Given the description of an element on the screen output the (x, y) to click on. 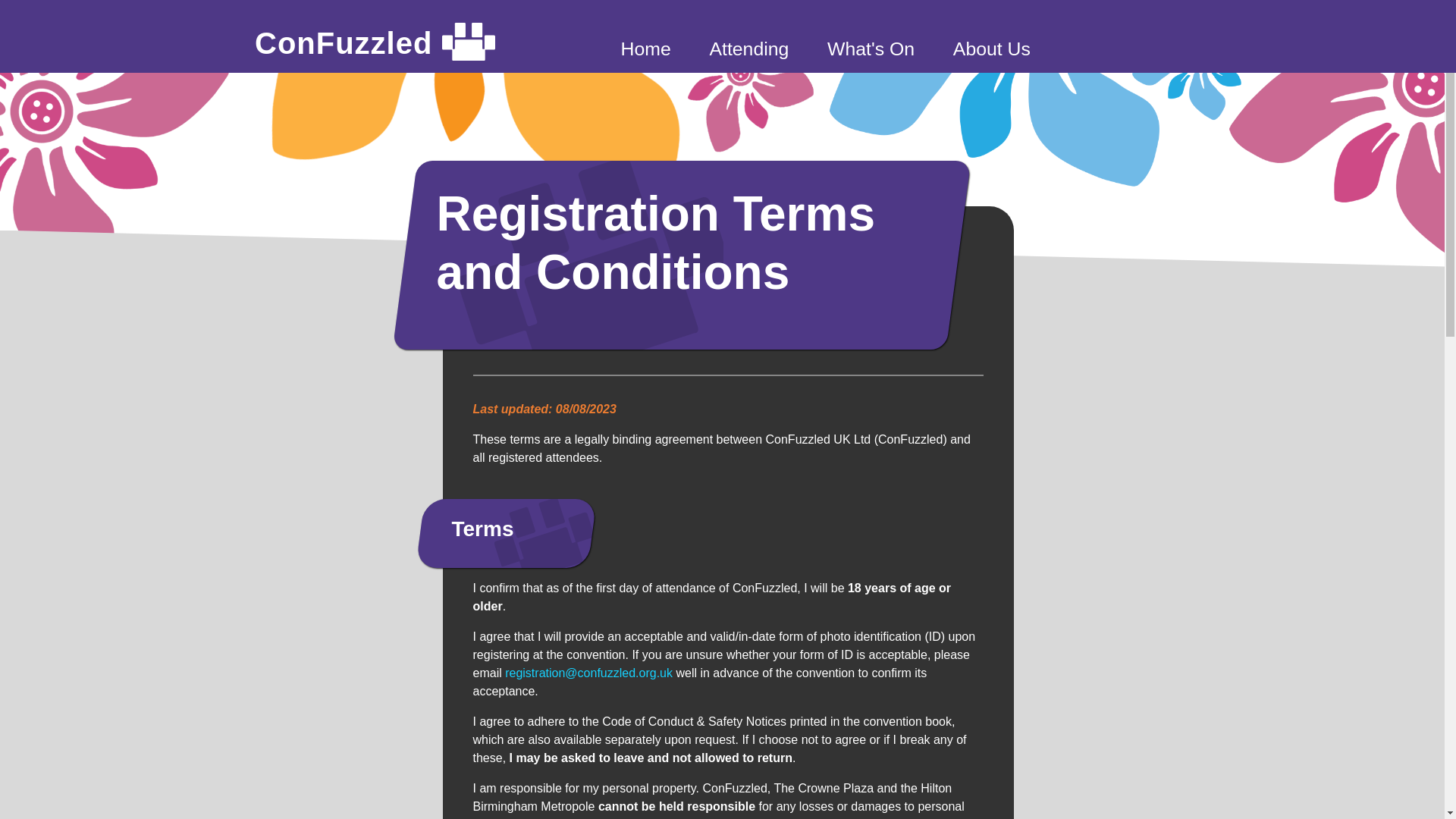
ConFuzzled (374, 42)
What's On (870, 48)
Attending (748, 48)
About Us (991, 48)
Home (645, 48)
